Given the description of an element on the screen output the (x, y) to click on. 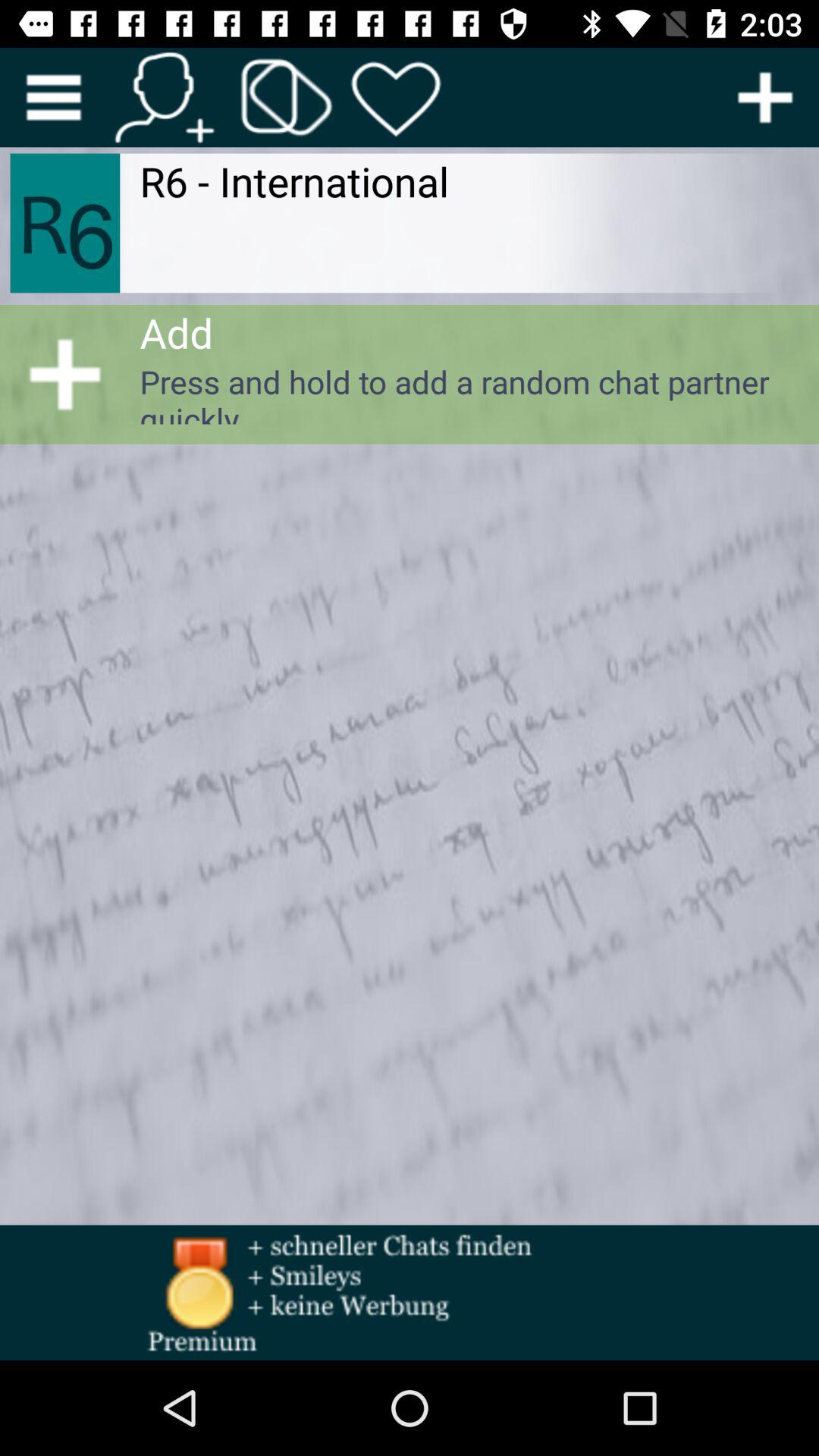
favourite button (396, 97)
